Given the description of an element on the screen output the (x, y) to click on. 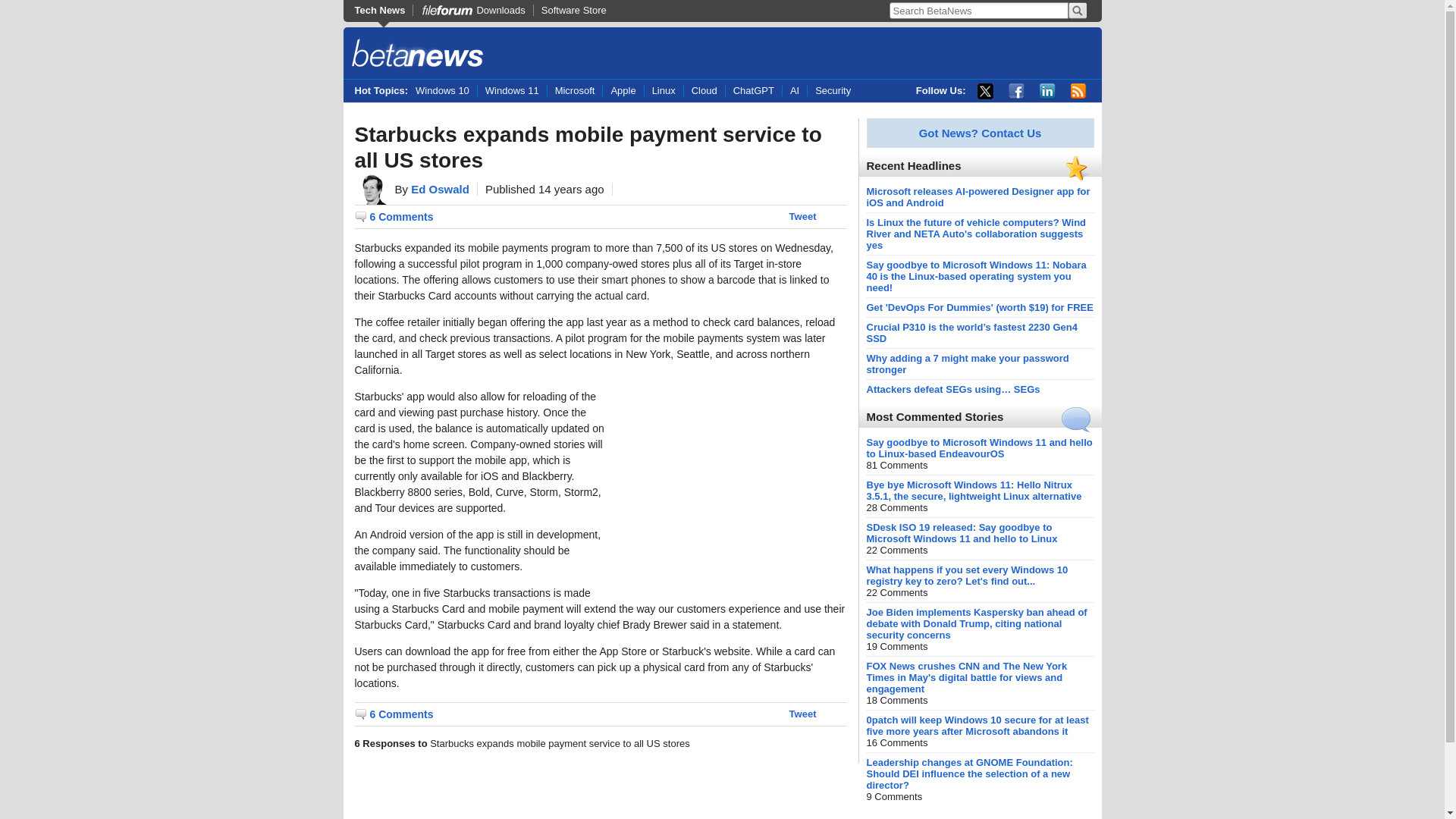
Ed Oswald (439, 188)
BetaNews (417, 54)
6 Comments (394, 713)
Tweet (802, 215)
6 Comments (394, 216)
Twitter (984, 91)
Search (1076, 10)
Downloads (472, 9)
RSS (1078, 91)
Windows 10 (445, 90)
